Given the description of an element on the screen output the (x, y) to click on. 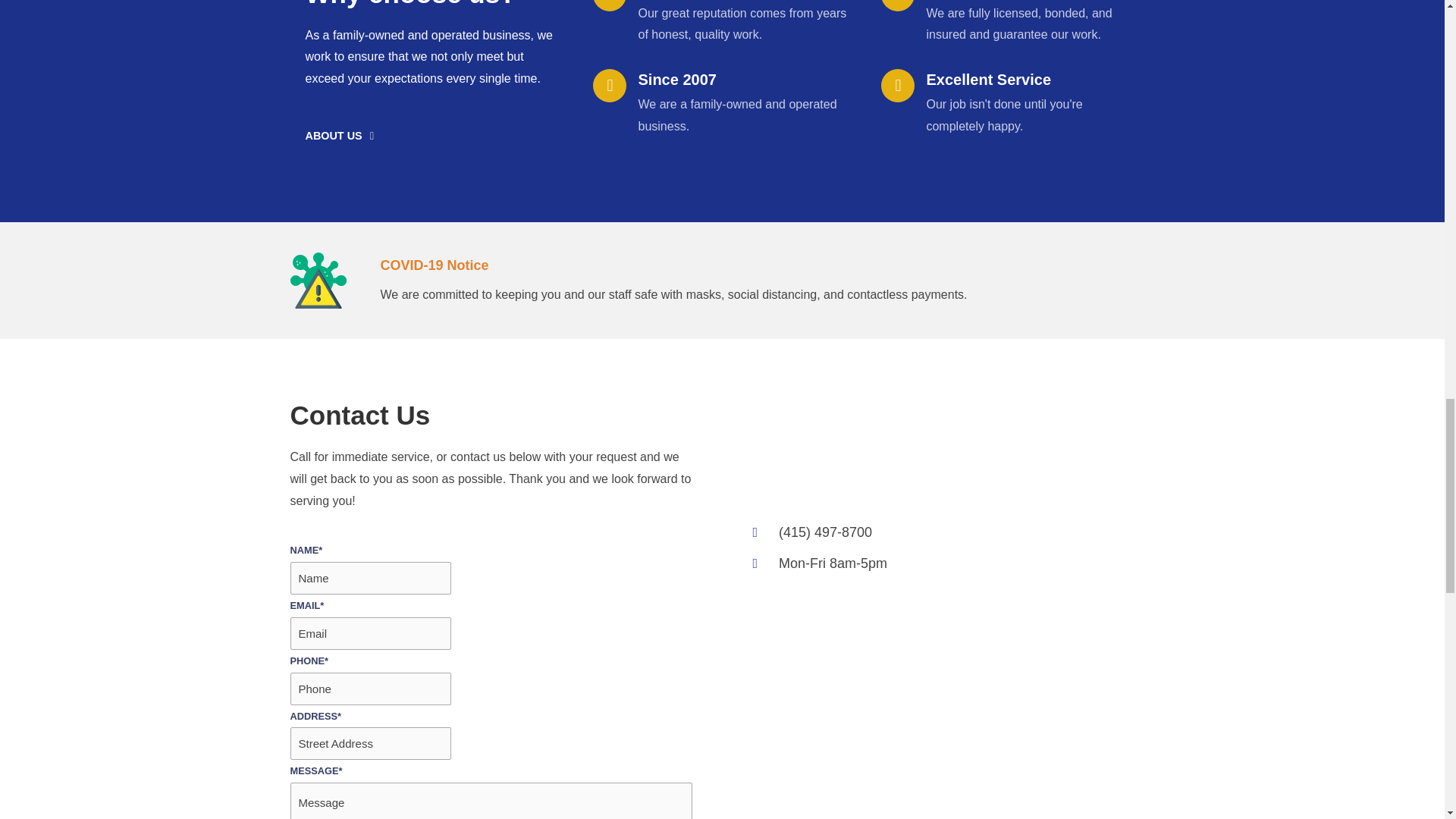
ABOUT US (338, 135)
